Given the description of an element on the screen output the (x, y) to click on. 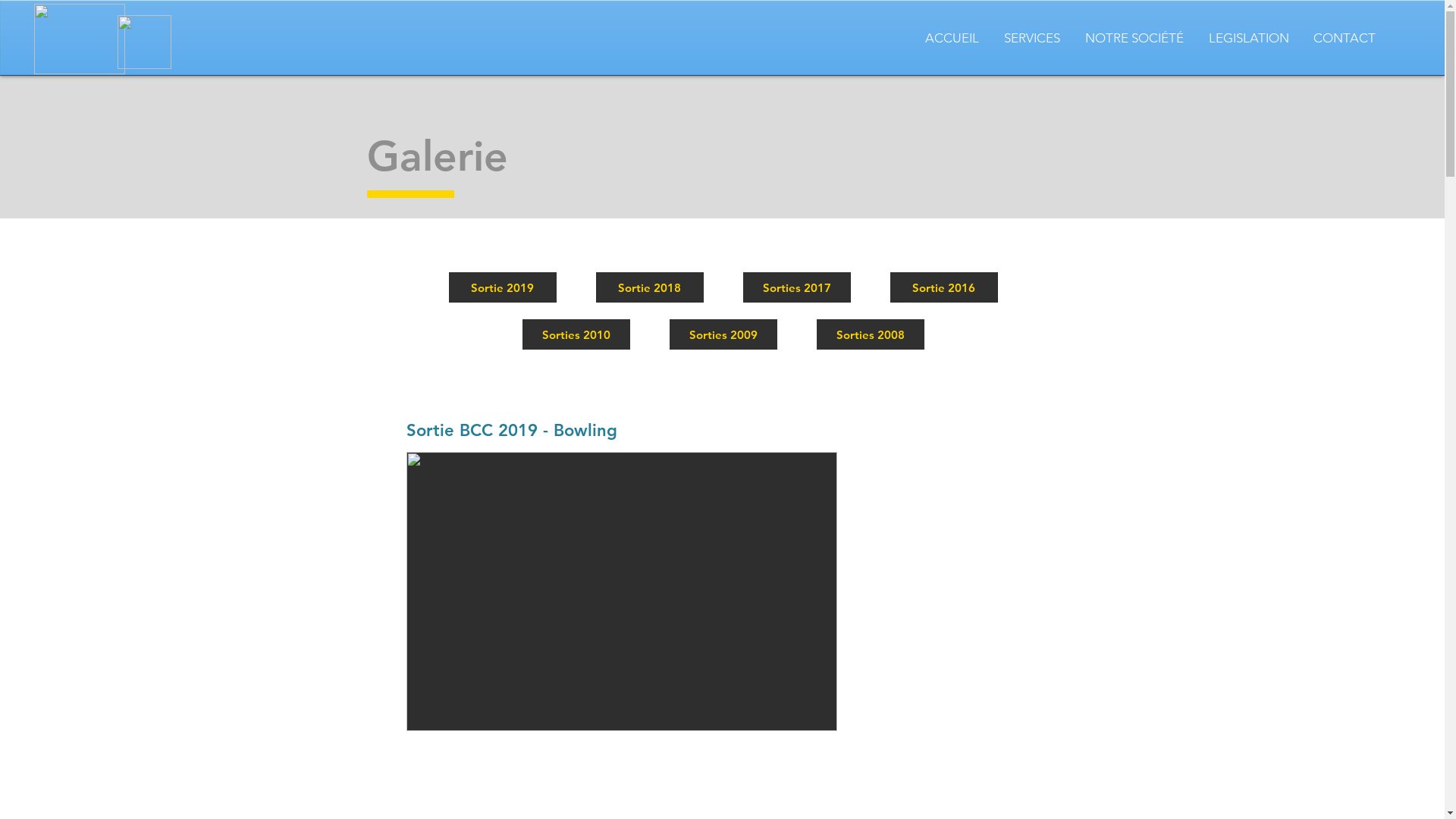
Sortie 2016 Element type: text (943, 287)
Sorties 2009 Element type: text (722, 334)
Sorties 2010 Element type: text (575, 334)
Sortie 2019 Element type: text (502, 287)
Sortie 2018 Element type: text (649, 287)
CONTACT Element type: text (1344, 38)
Sorties 2017 Element type: text (796, 287)
ACCUEIL Element type: text (951, 38)
SERVICES Element type: text (1031, 38)
Logo_BCC-vecto.png Element type: hover (79, 38)
logo-sis.png Element type: hover (144, 42)
LEGISLATION Element type: text (1248, 38)
Sorties 2008 Element type: text (869, 334)
